Given the description of an element on the screen output the (x, y) to click on. 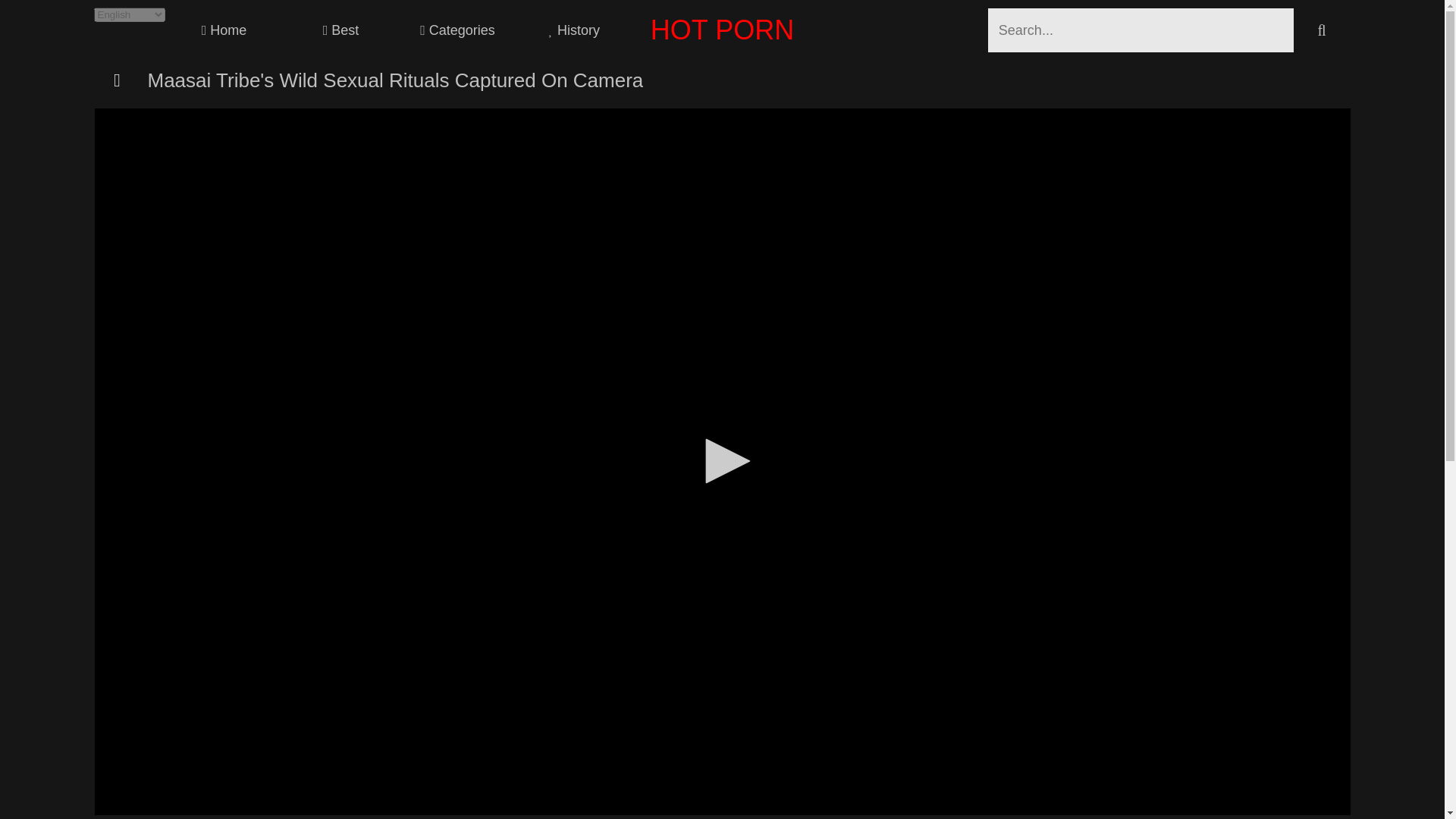
Find (1322, 30)
Home (224, 30)
Categories (457, 30)
History (573, 30)
Best (340, 30)
HOT PORN (721, 30)
